Given the description of an element on the screen output the (x, y) to click on. 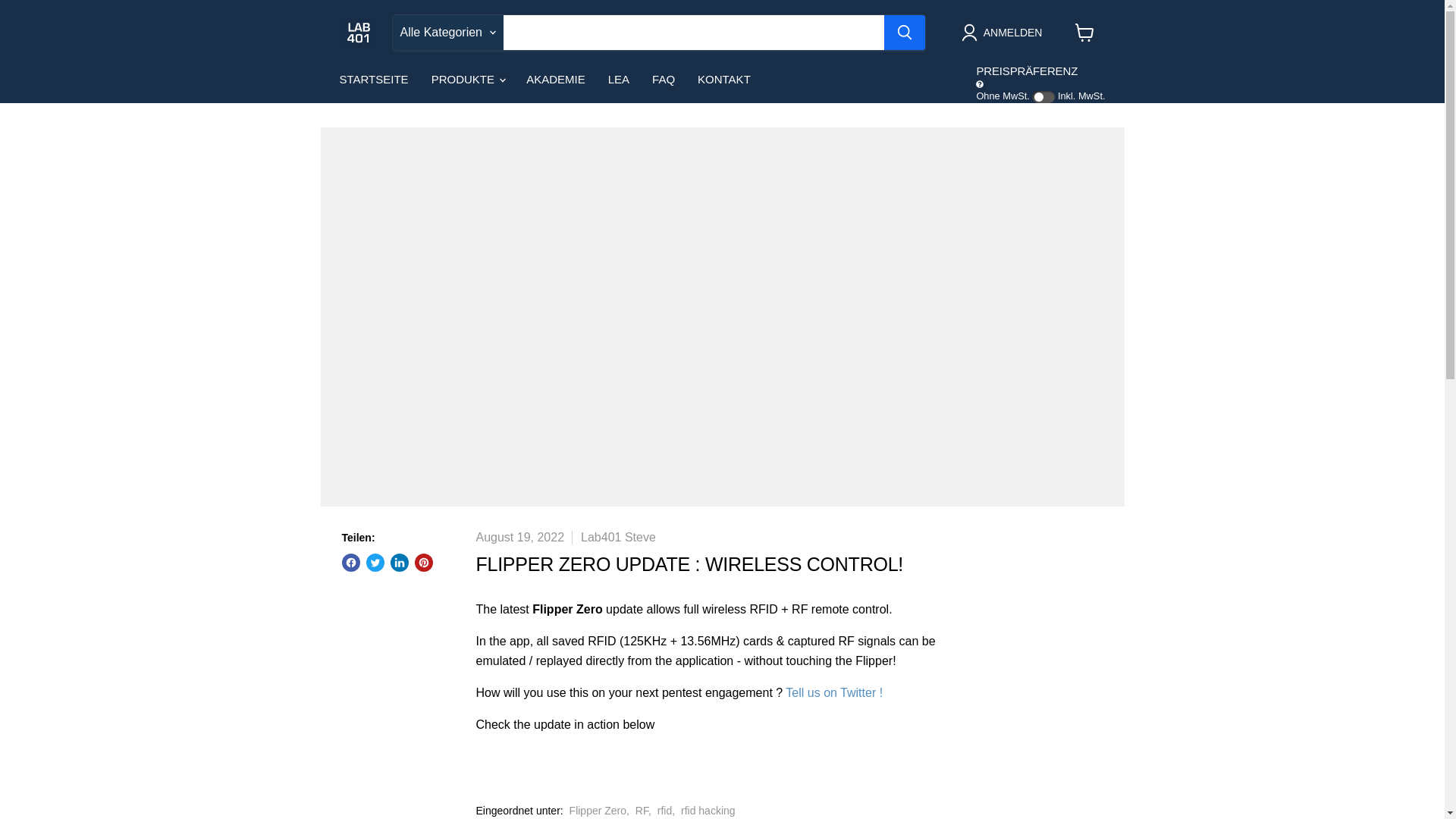
AKADEMIE (555, 79)
STARTSEITE (373, 79)
Show articles tagged Flipper Zero (597, 810)
Show articles tagged rfid (664, 810)
ANMELDEN (1004, 32)
Show articles tagged RF (640, 810)
Show articles tagged rfid hacking (708, 810)
LEA (618, 79)
FAQ (662, 79)
KONTAKT (723, 79)
Warenkorb anzeigen (1084, 32)
